Given the description of an element on the screen output the (x, y) to click on. 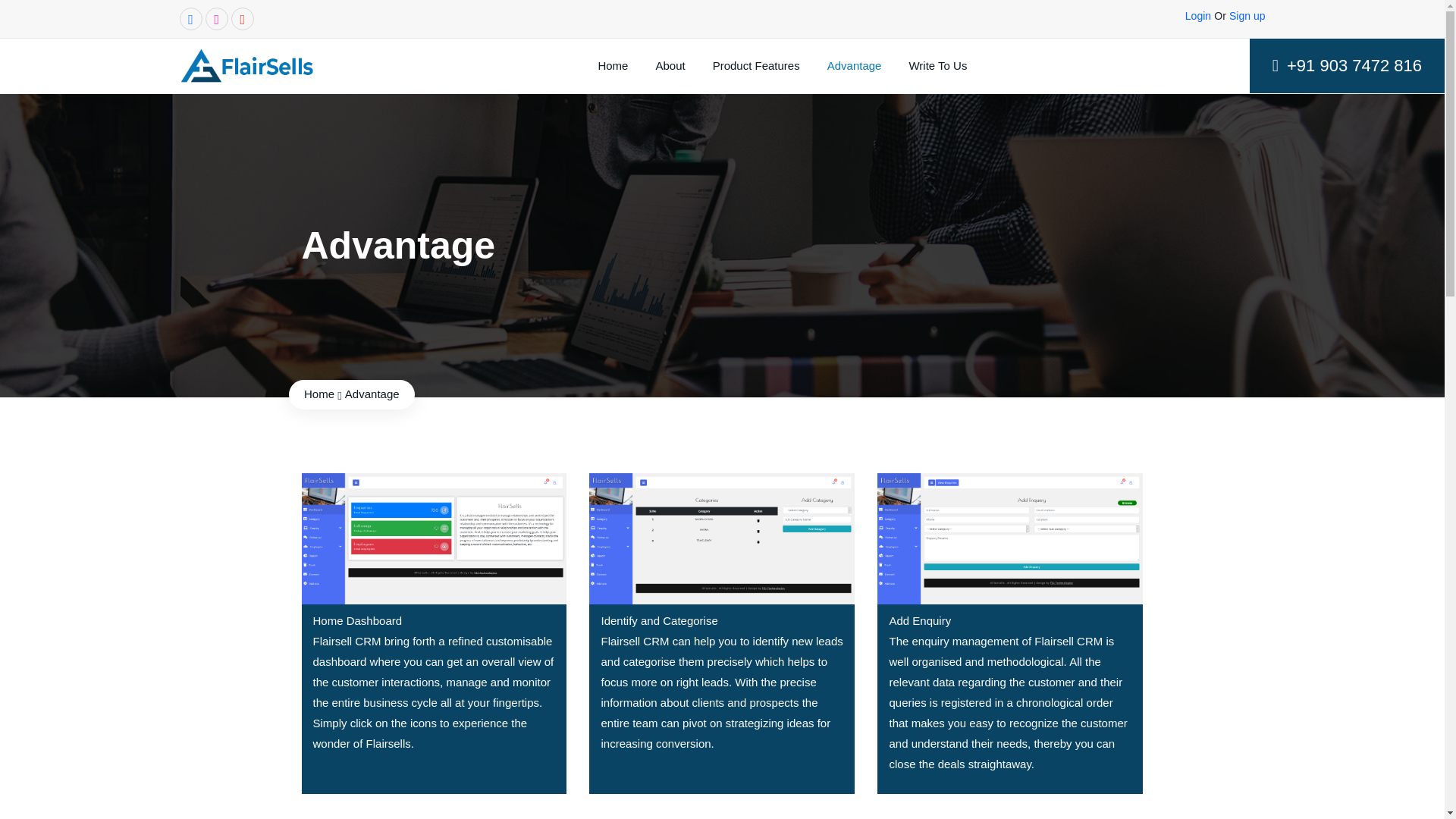
Write To Us (937, 66)
Home (319, 394)
Product Features (756, 66)
Sign up (1246, 15)
Login (1198, 15)
Advantage (854, 66)
